Given the description of an element on the screen output the (x, y) to click on. 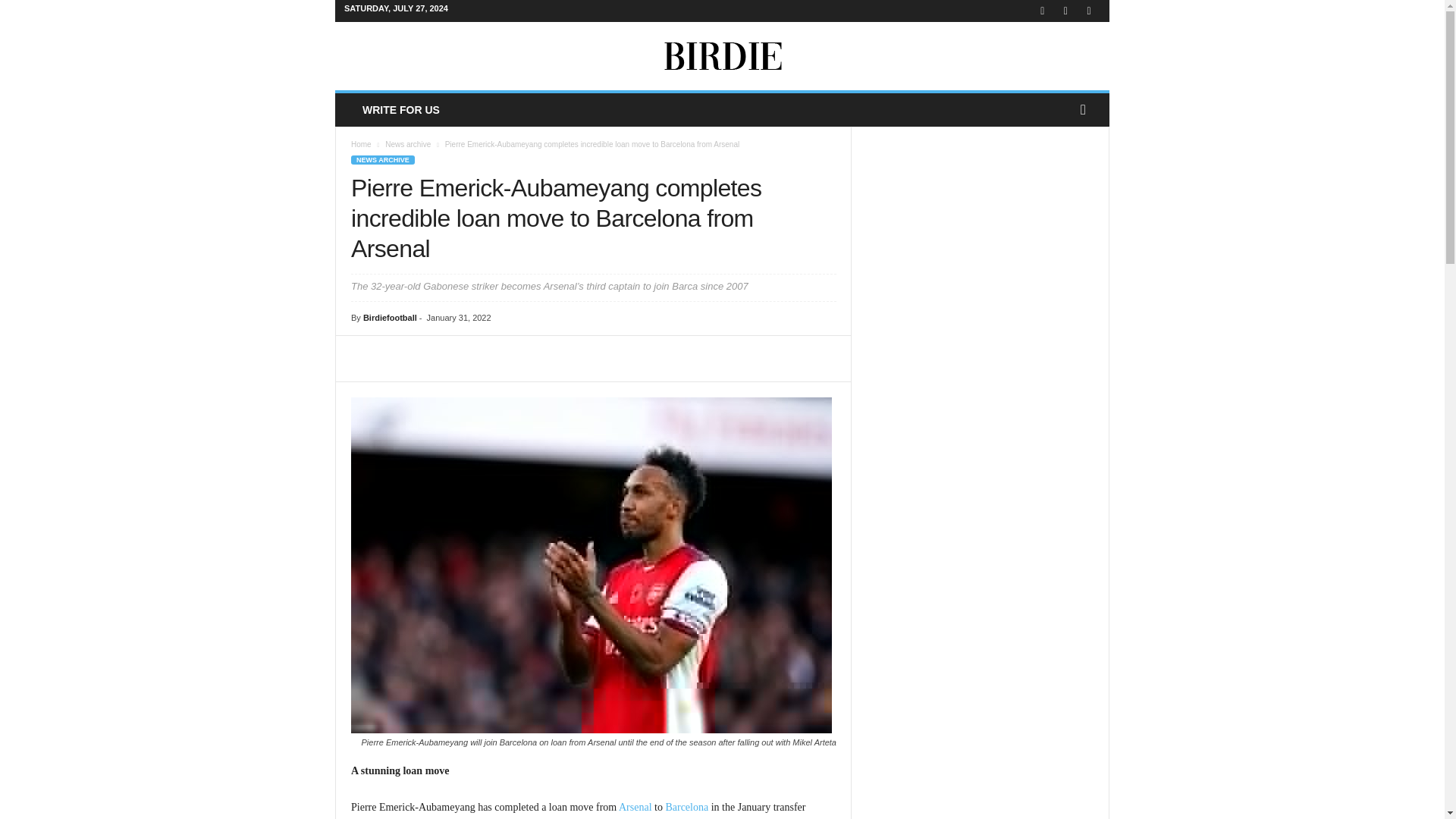
NEWS ARCHIVE (382, 159)
WRITE FOR US (400, 109)
Arsenal (635, 807)
Barcelona (686, 807)
News archive (407, 144)
Birdiefootball (721, 56)
View all posts in News archive (407, 144)
Birdiefootball (389, 317)
Home (360, 144)
